Given the description of an element on the screen output the (x, y) to click on. 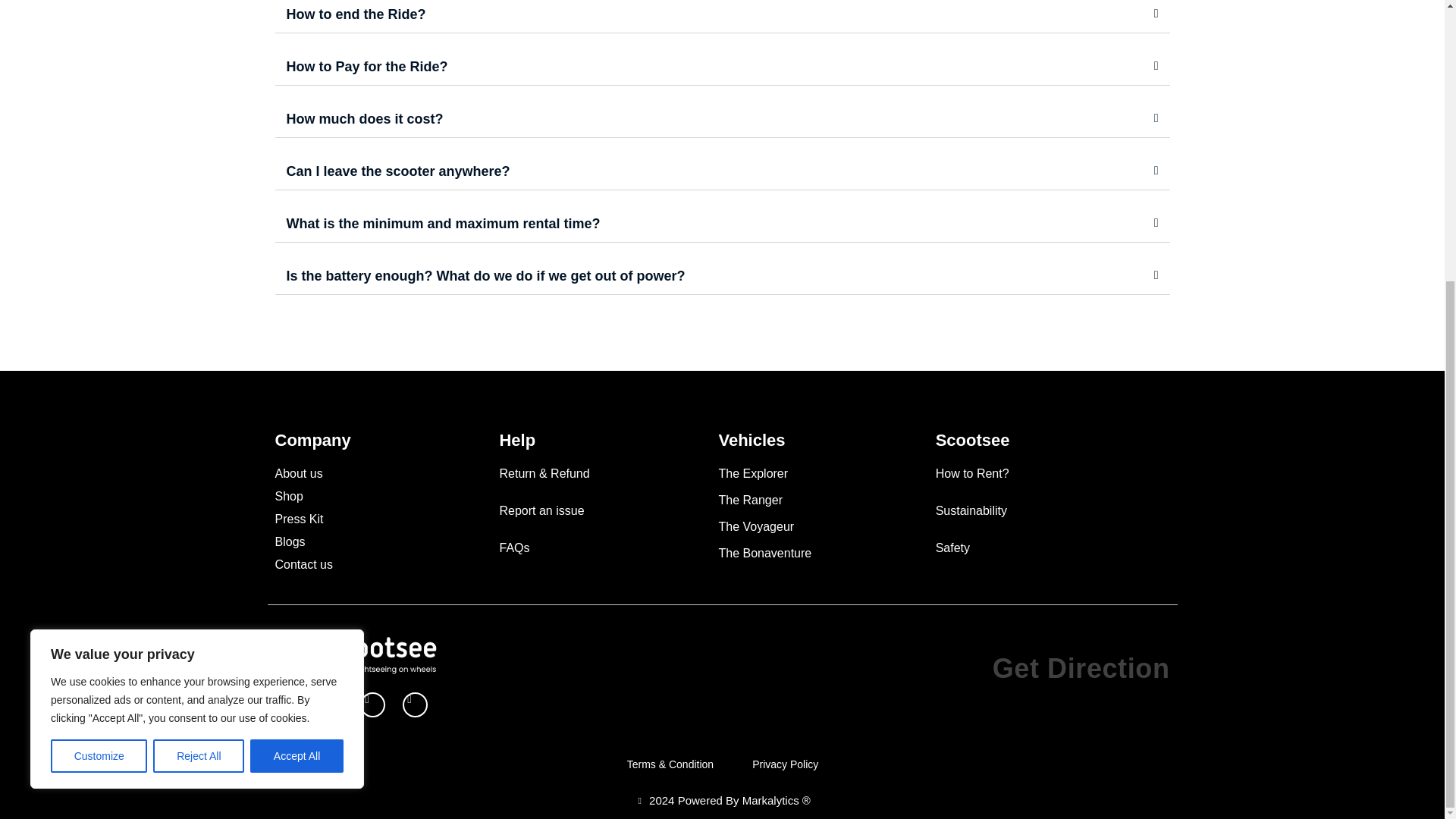
Reject All (198, 335)
Customize (98, 335)
Accept All (296, 335)
